Given the description of an element on the screen output the (x, y) to click on. 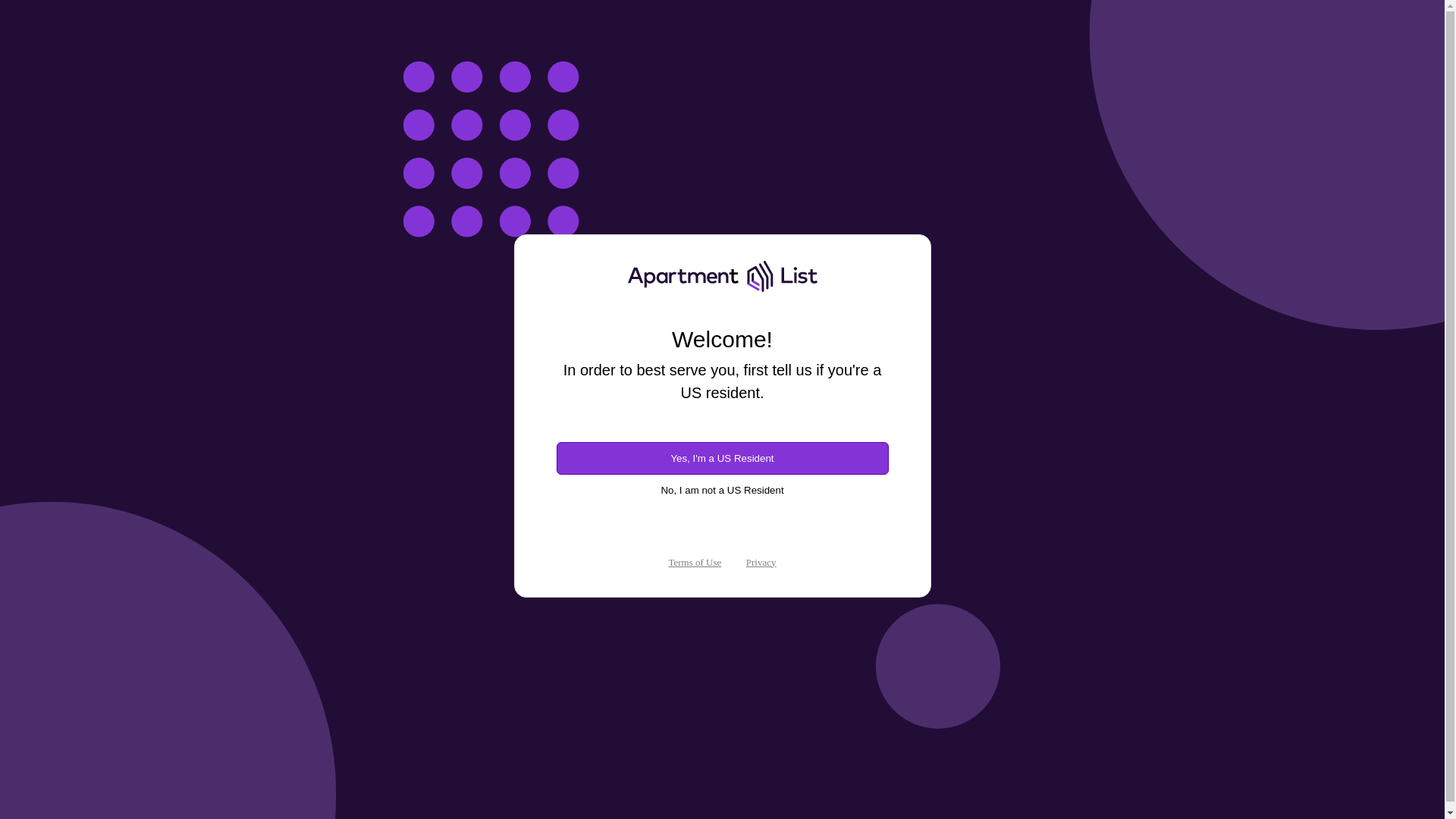
Yes, I'm a US Resident (722, 457)
Terms of Use (694, 562)
Privacy (760, 562)
No, I am not a US Resident (722, 490)
